Given the description of an element on the screen output the (x, y) to click on. 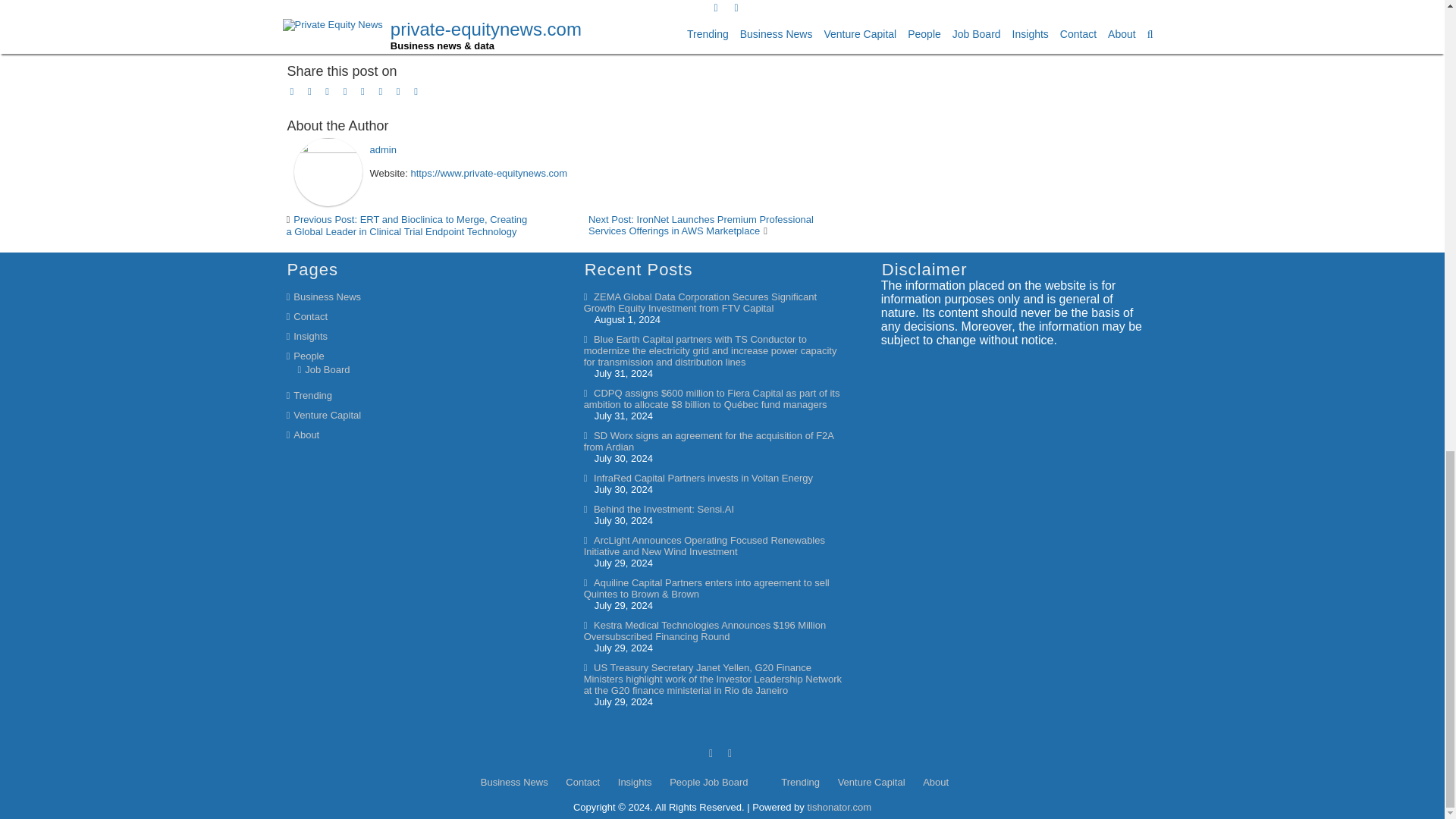
Logistics (403, 31)
infrastructure (352, 31)
admin (382, 149)
News (362, 15)
